Given the description of an element on the screen output the (x, y) to click on. 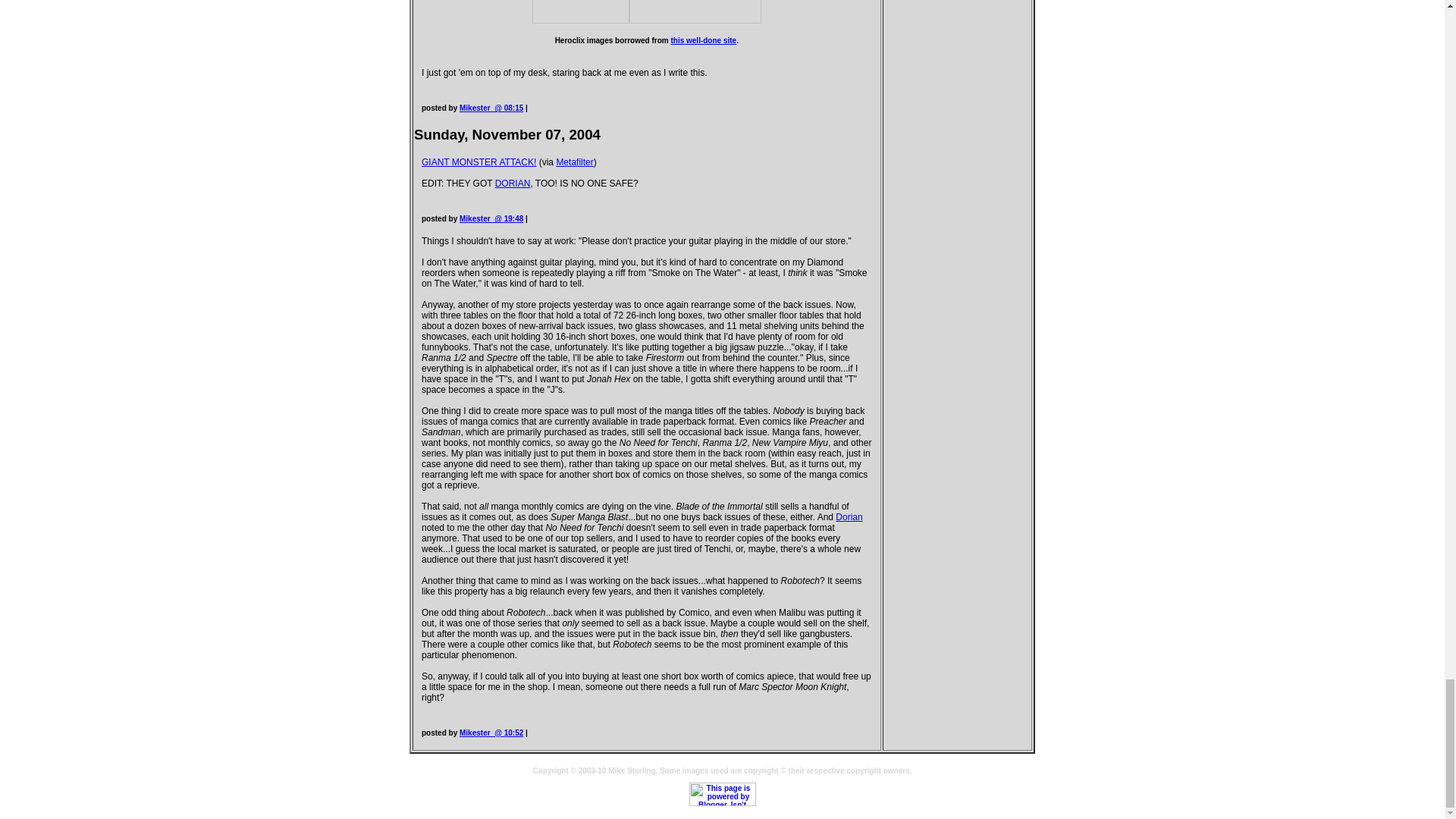
permanent link (491, 732)
permanent link (491, 108)
permanent link (491, 218)
